Given the description of an element on the screen output the (x, y) to click on. 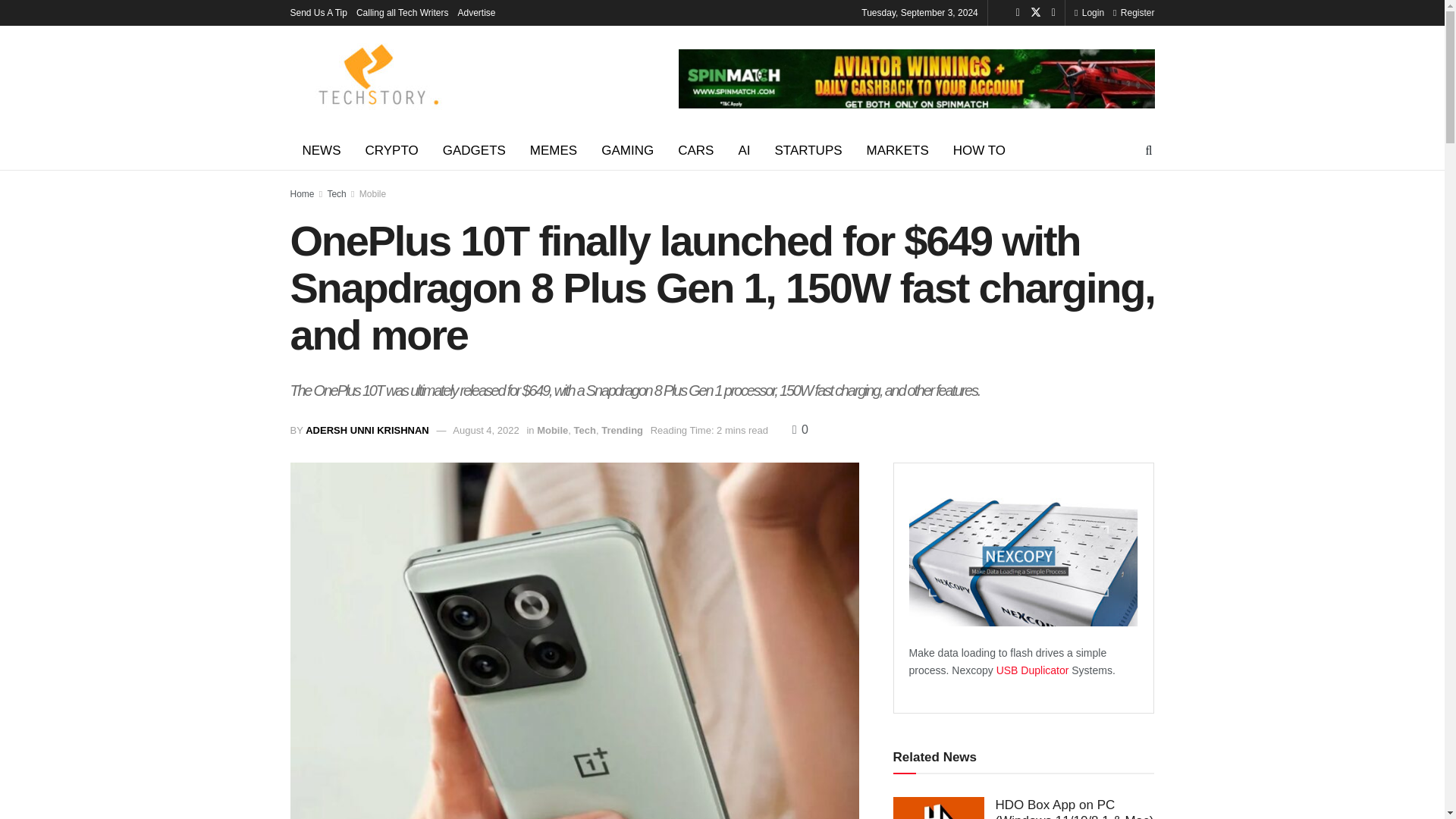
CRYPTO (391, 150)
Calling all Tech Writers (402, 12)
AI (743, 150)
MEMES (553, 150)
NEWS (320, 150)
GADGETS (474, 150)
USB duplicator (1033, 670)
Send Us A Tip (317, 12)
CARS (695, 150)
Login (1088, 12)
